Given the description of an element on the screen output the (x, y) to click on. 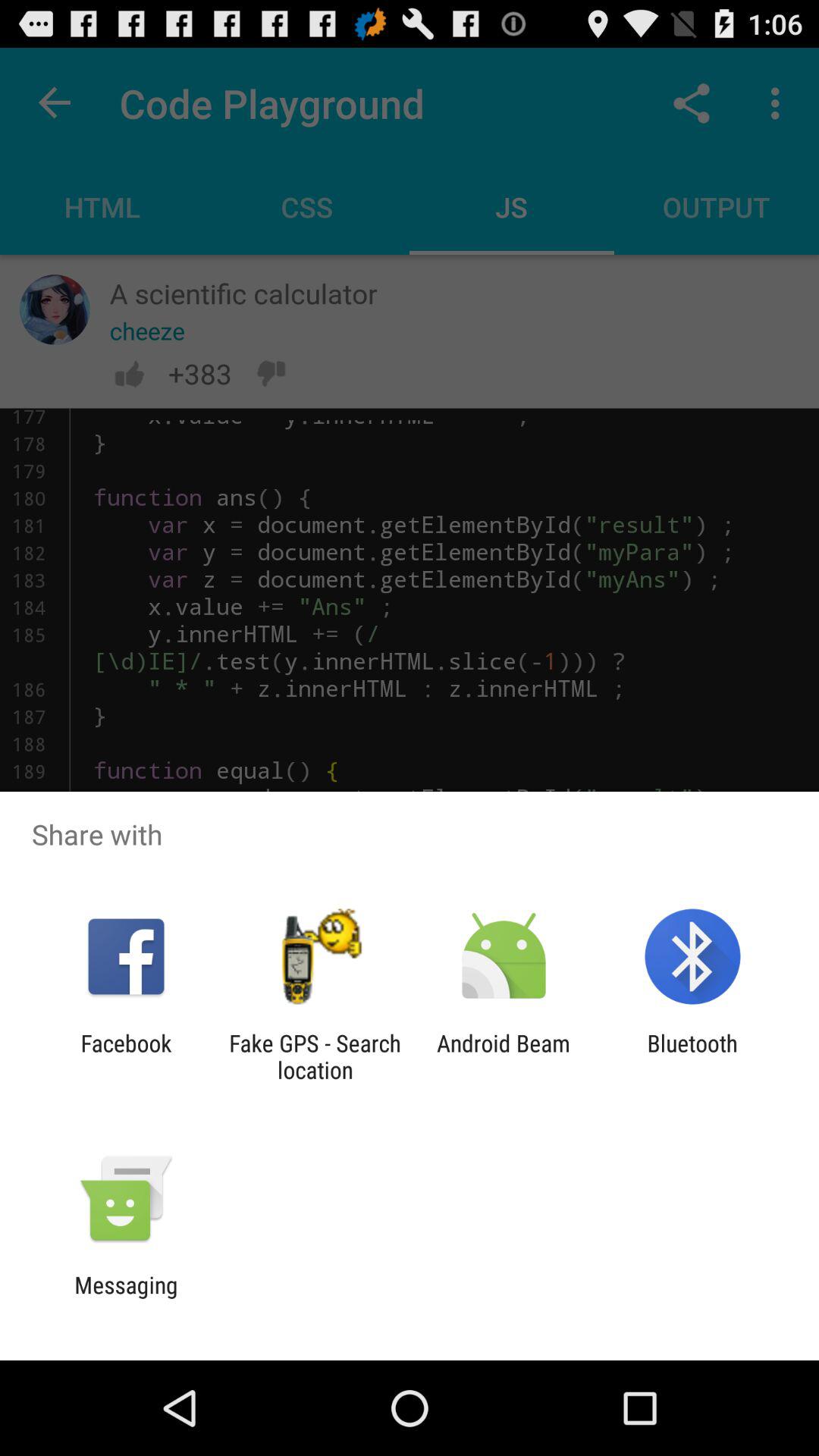
turn on icon next to the bluetooth (503, 1056)
